Given the description of an element on the screen output the (x, y) to click on. 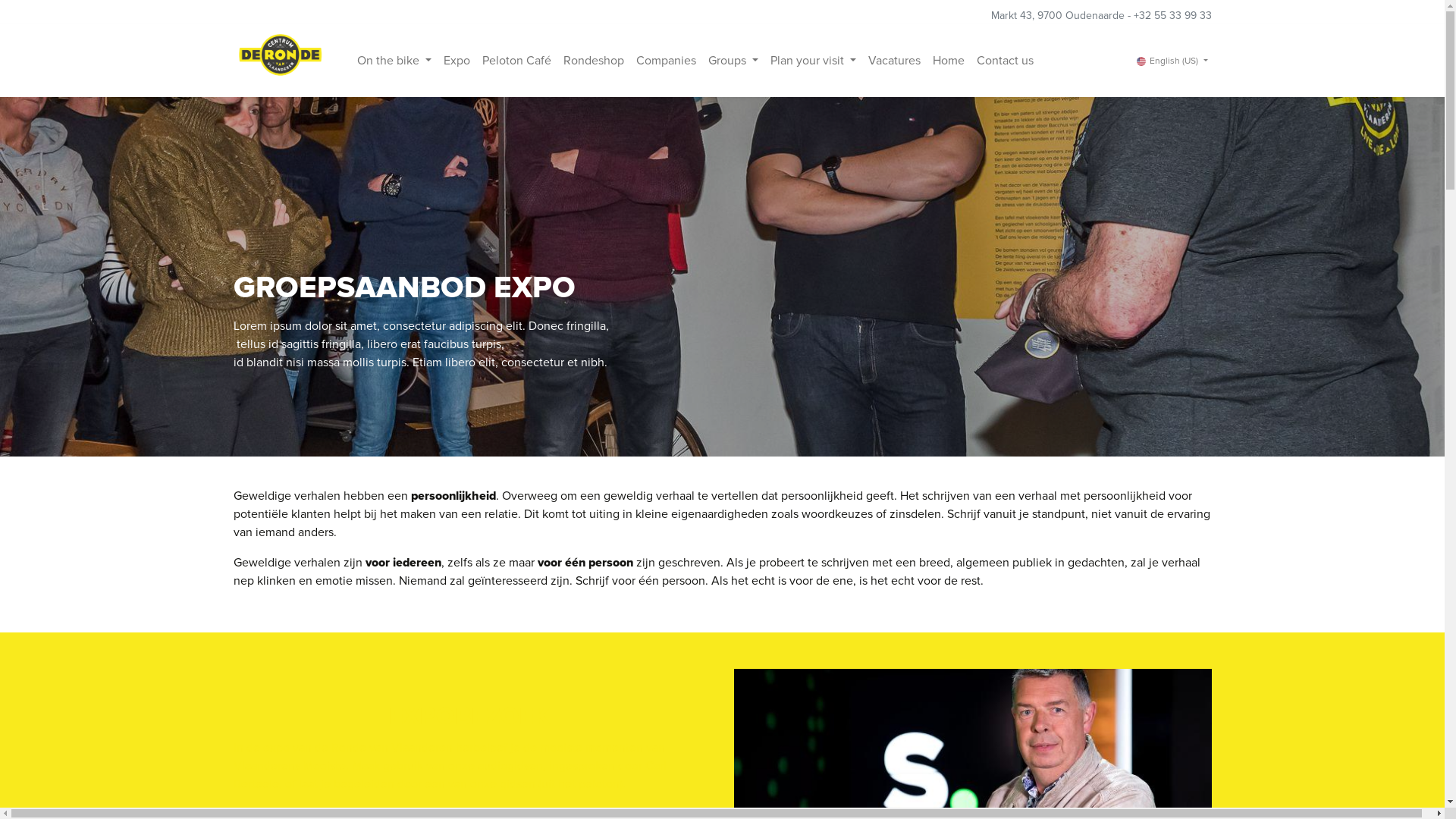
English (US) Element type: text (1171, 61)
Expo Element type: text (456, 60)
CRVV Element type: hover (279, 60)
Plan your visit Element type: text (813, 60)
On the bike Element type: text (394, 60)
Home Element type: text (948, 60)
Contact us Element type: text (1004, 60)
Companies Element type: text (666, 60)
Rondeshop Element type: text (593, 60)
Vacatures Element type: text (894, 60)
Groups Element type: text (733, 60)
